Given the description of an element on the screen output the (x, y) to click on. 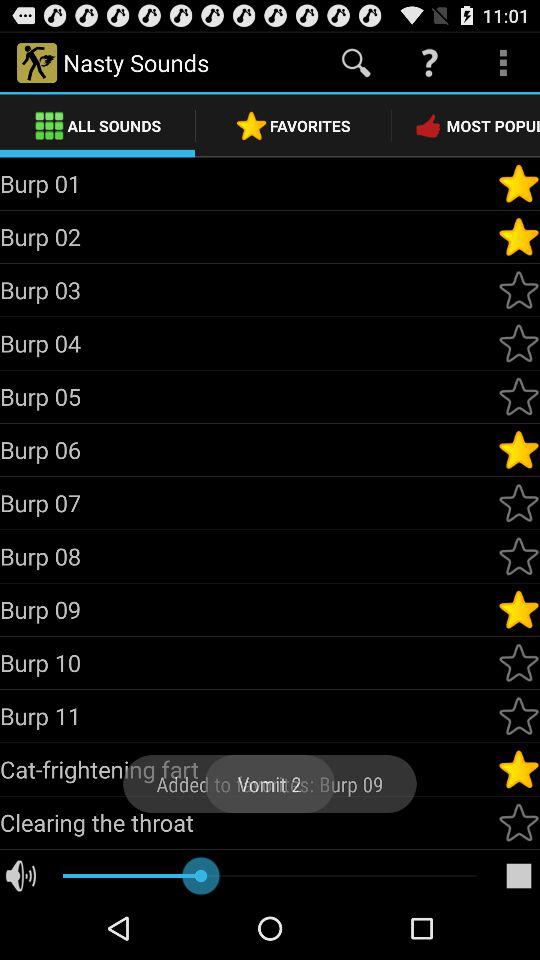
make favorite click to favorite tap here to favorite favorite go to favorite create favorite (519, 237)
